Given the description of an element on the screen output the (x, y) to click on. 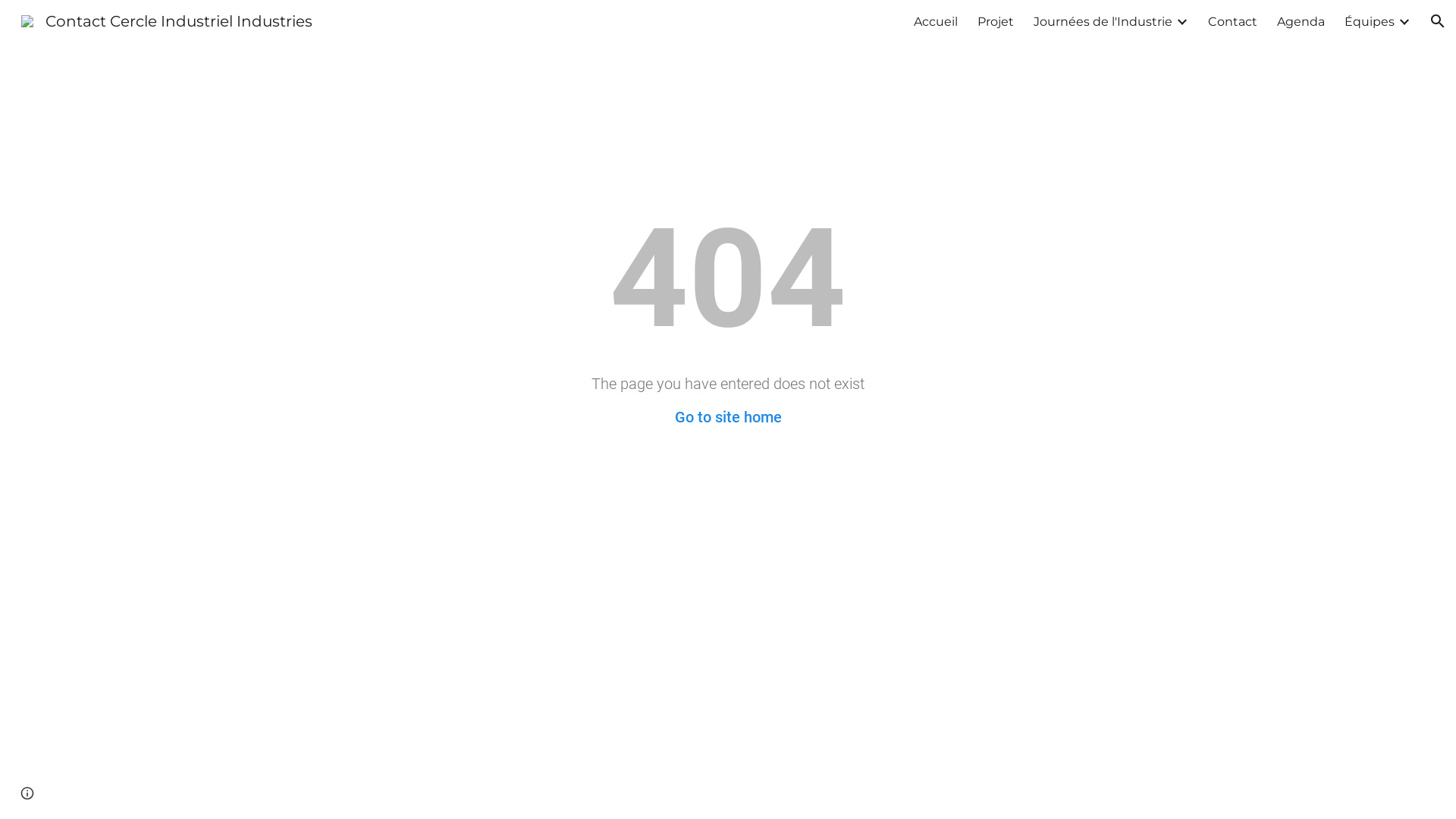
Accueil Element type: text (935, 20)
Go to site home Element type: text (727, 416)
Expand/Collapse Element type: hover (1181, 20)
Contact Element type: text (1232, 20)
Expand/Collapse Element type: hover (1403, 20)
Agenda Element type: text (1300, 20)
Contact Cercle Industriel Industries Element type: text (166, 19)
Projet Element type: text (995, 20)
